Given the description of an element on the screen output the (x, y) to click on. 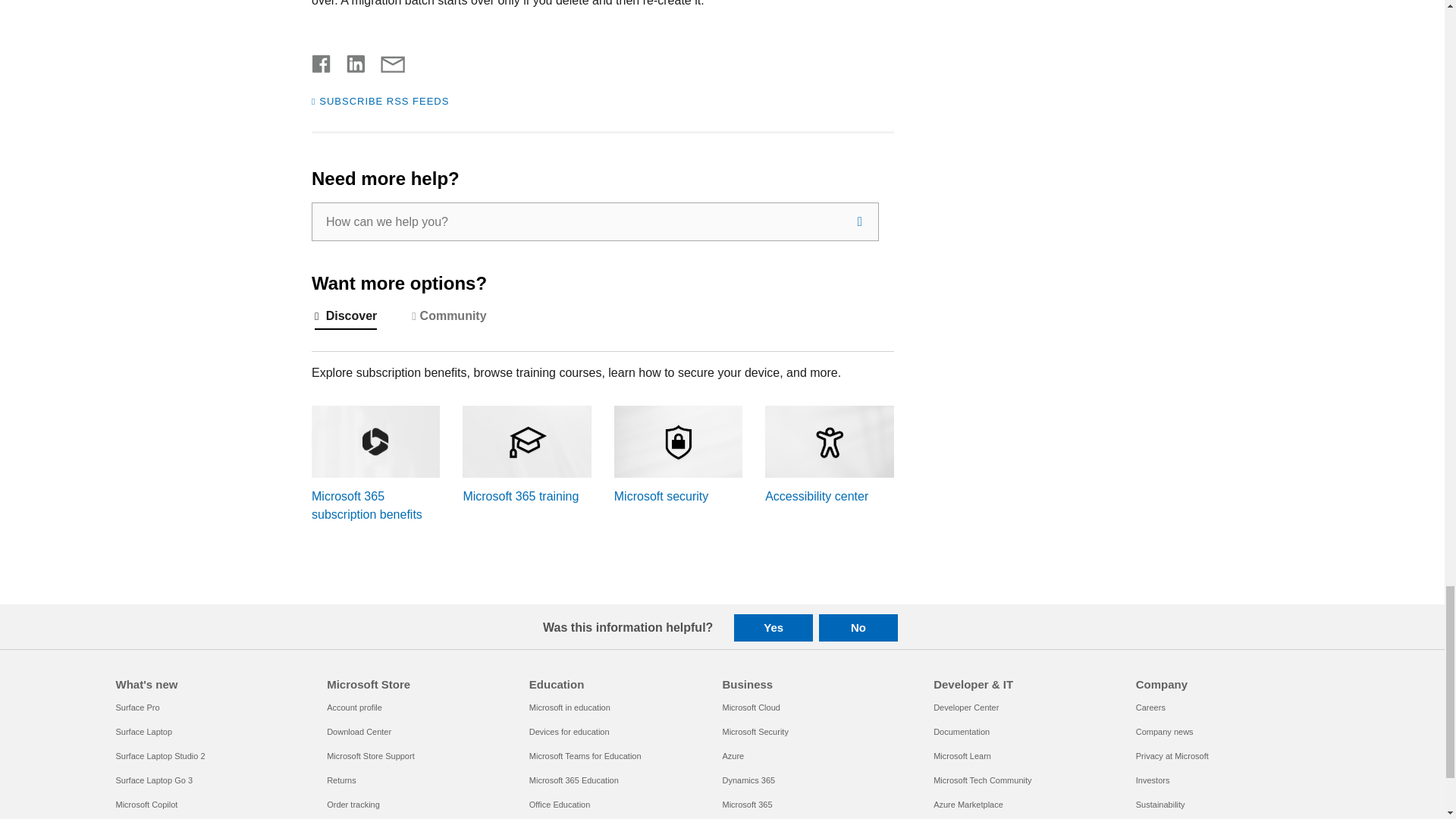
Search (860, 221)
Share on Facebook (322, 60)
Share by email (385, 60)
Share on LinkedIn (349, 60)
